Given the description of an element on the screen output the (x, y) to click on. 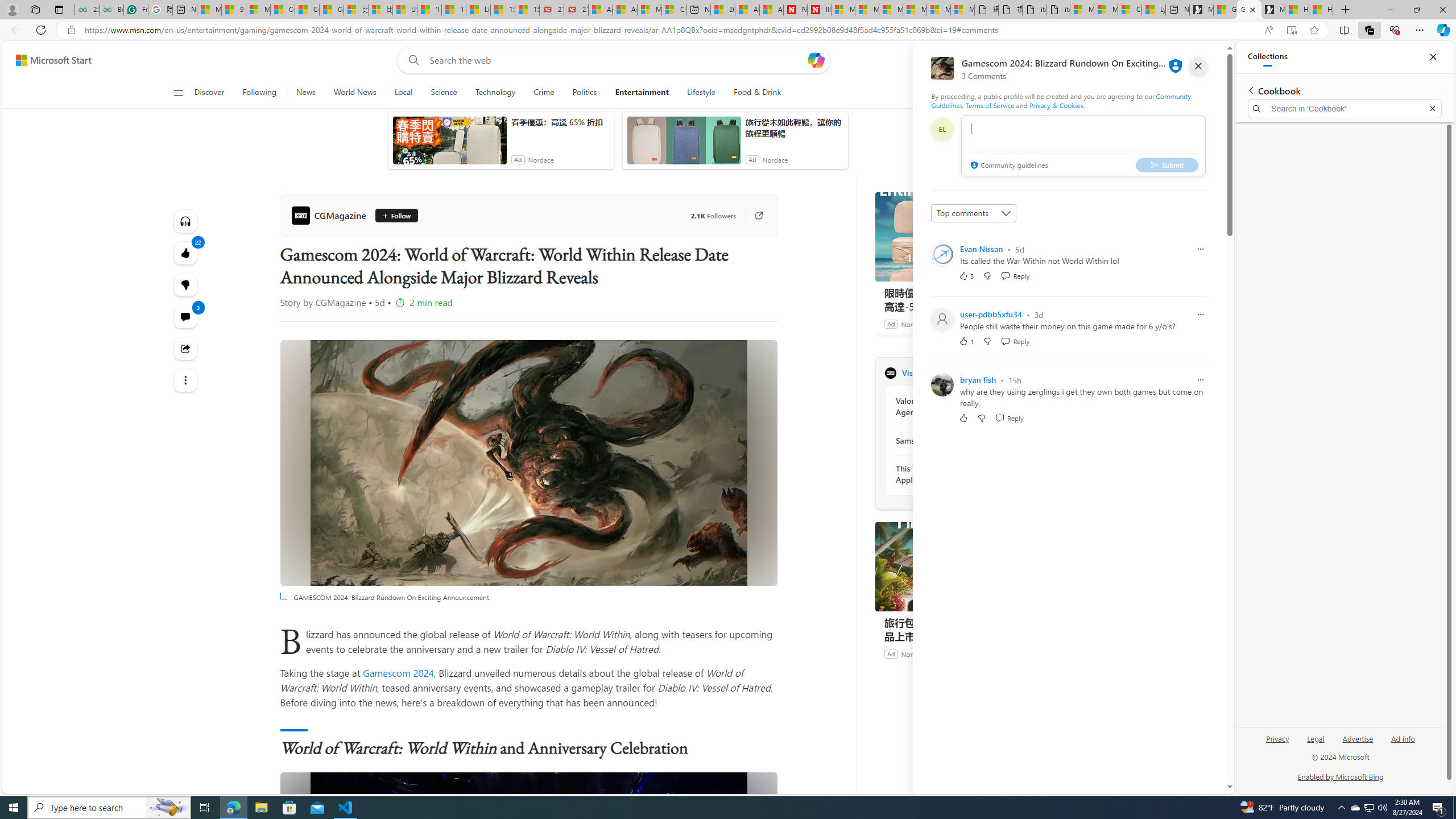
Exit search (1432, 108)
Terms of Service (989, 104)
CGMagazine (331, 215)
20 Ways to Boost Your Protein Intake at Every Meal (722, 9)
